Given the description of an element on the screen output the (x, y) to click on. 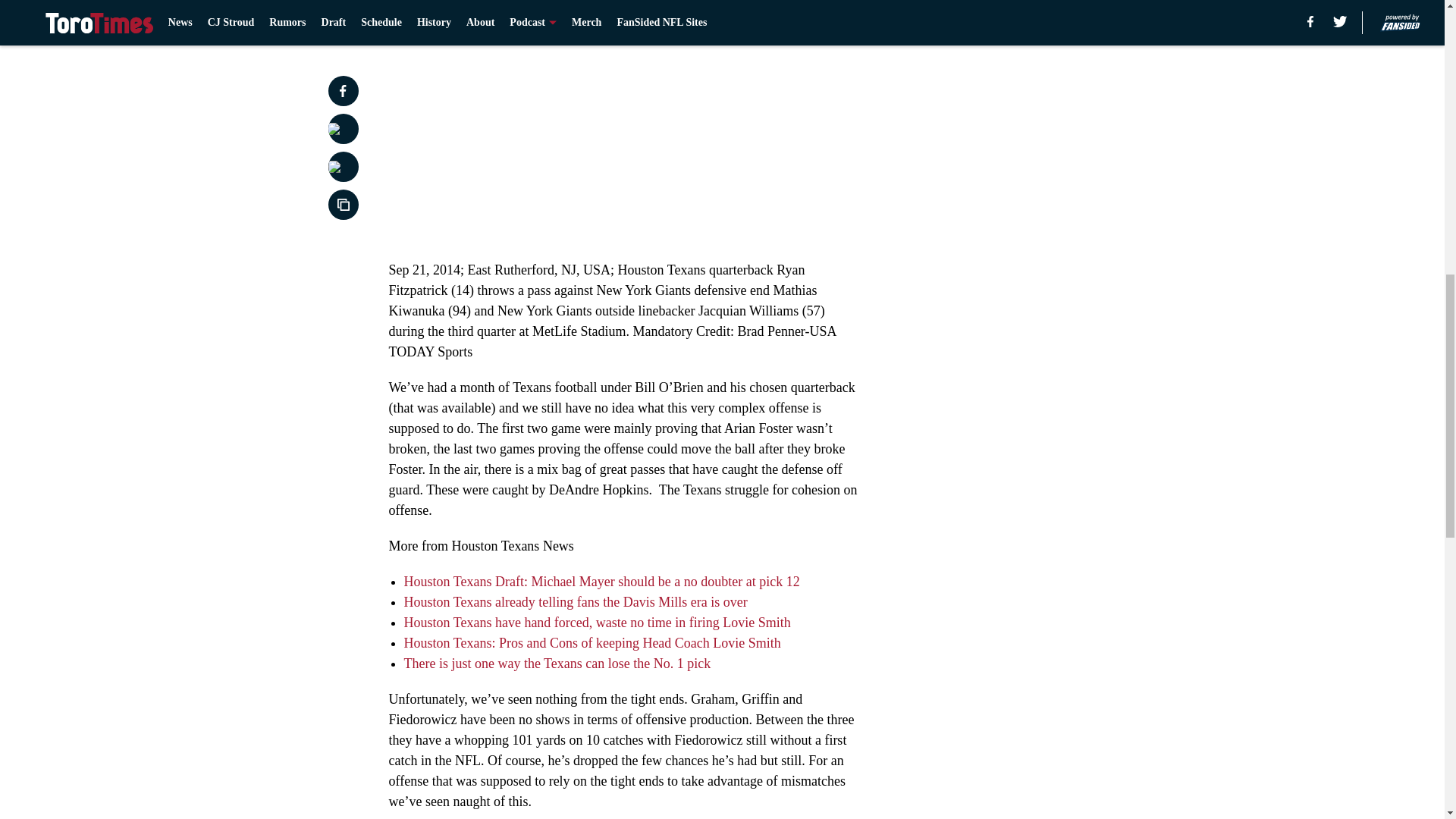
There is just one way the Texans can lose the No. 1 pick (556, 663)
